Given the description of an element on the screen output the (x, y) to click on. 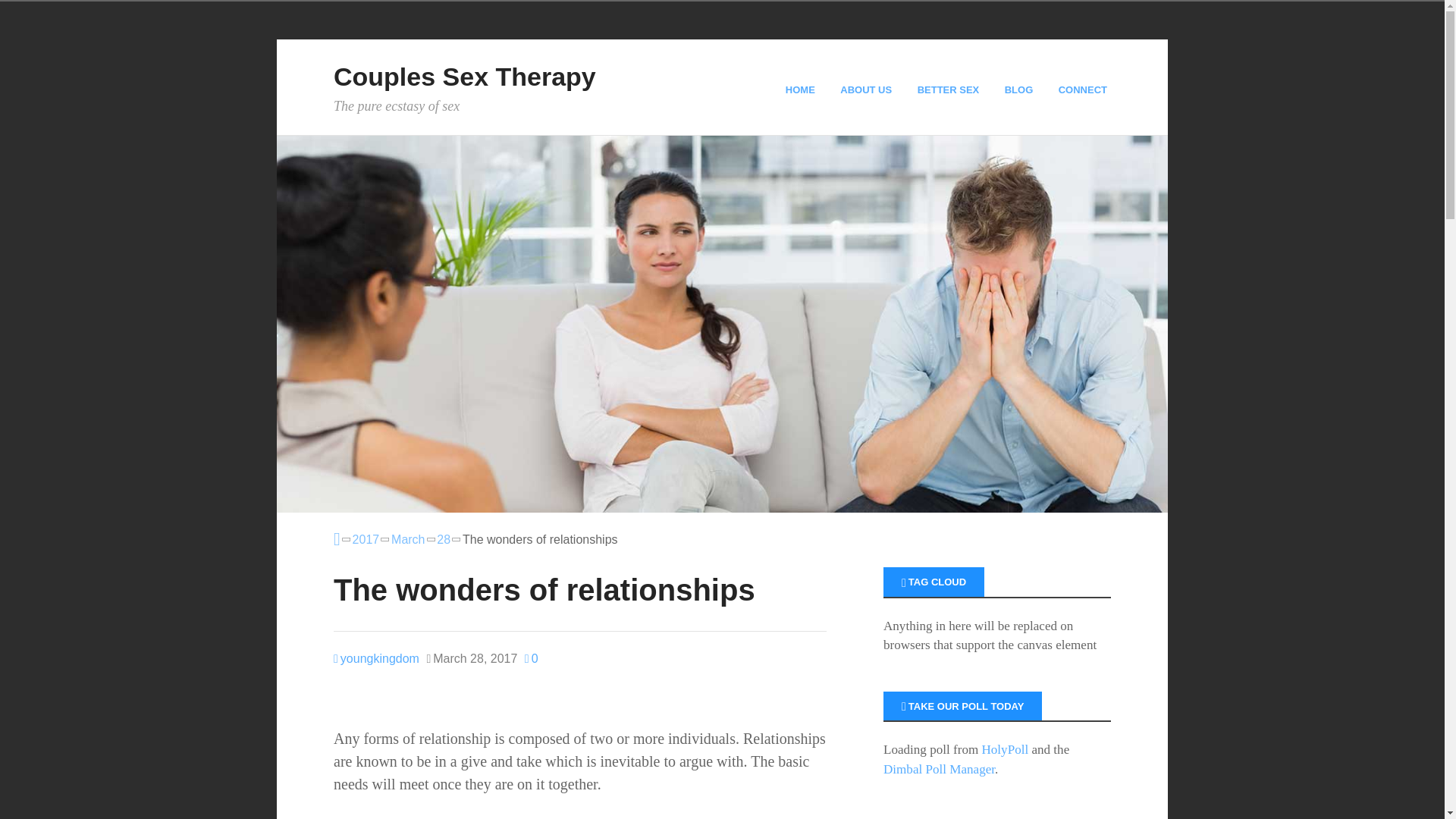
Tuesday, March 28, 2017, 10:18 am (471, 659)
March (408, 539)
Couples Sex Therapy (464, 76)
BETTER SEX (950, 90)
HOME (802, 90)
youngkingdom (376, 658)
Posts by youngkingdom (376, 658)
2017 (366, 539)
ABOUT US (867, 90)
CONNECT (1084, 90)
